Given the description of an element on the screen output the (x, y) to click on. 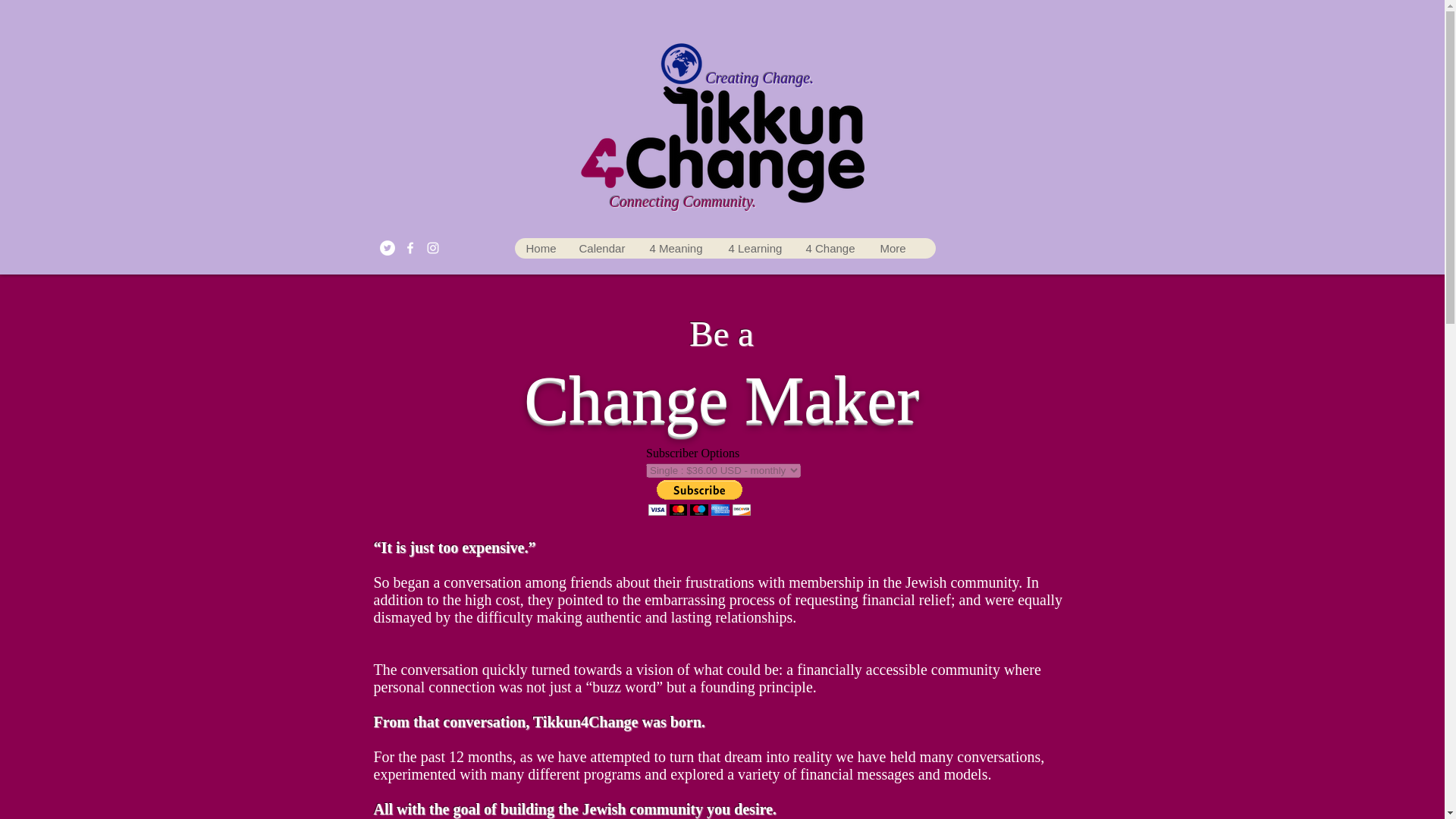
Calendar (602, 248)
4 Meaning (676, 248)
4 Change (830, 248)
Home (539, 248)
4 Learning (754, 248)
Embedded Content (721, 488)
